Given the description of an element on the screen output the (x, y) to click on. 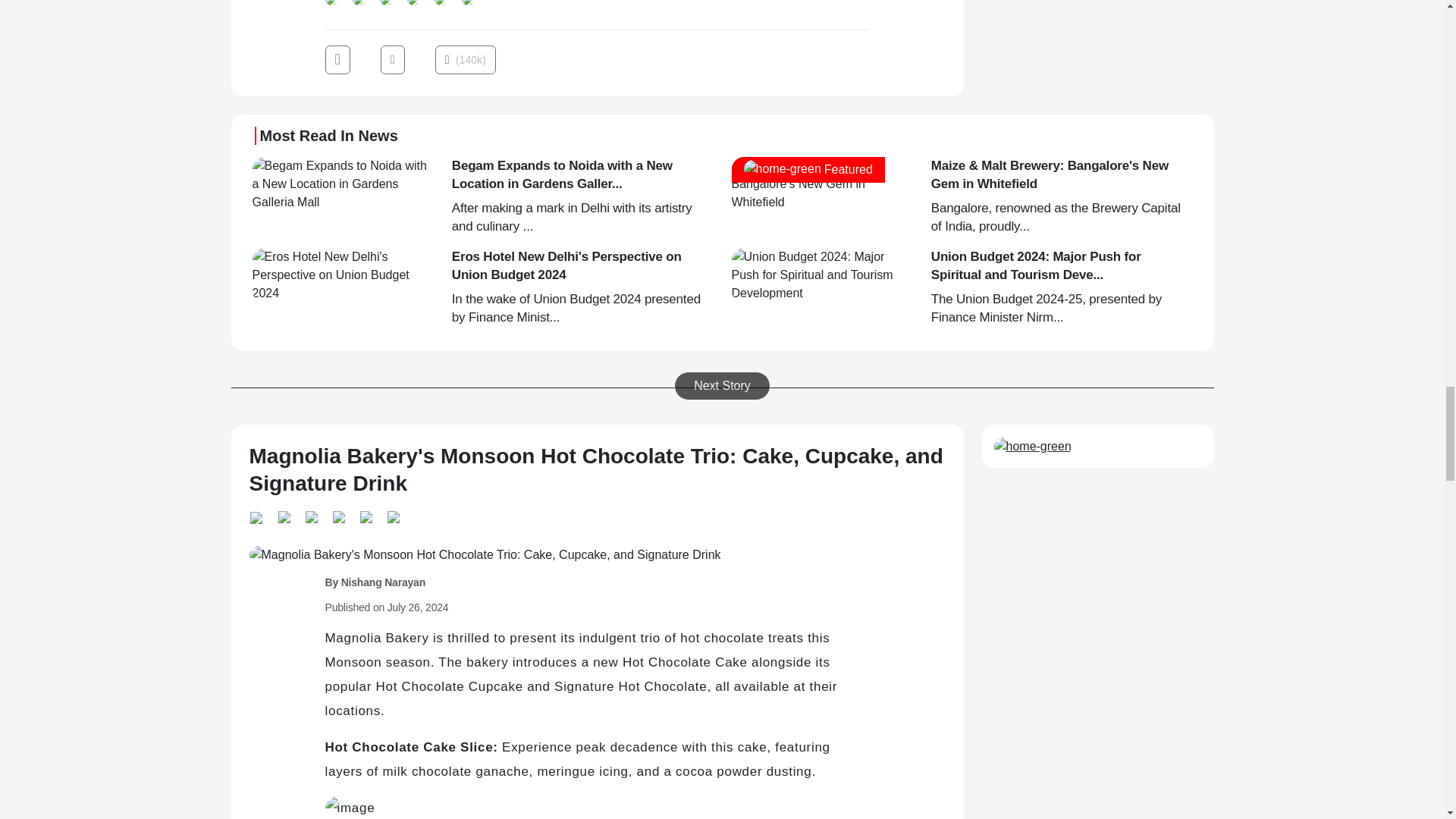
Linkedin (357, 5)
Whatsapp (333, 5)
